Given the description of an element on the screen output the (x, y) to click on. 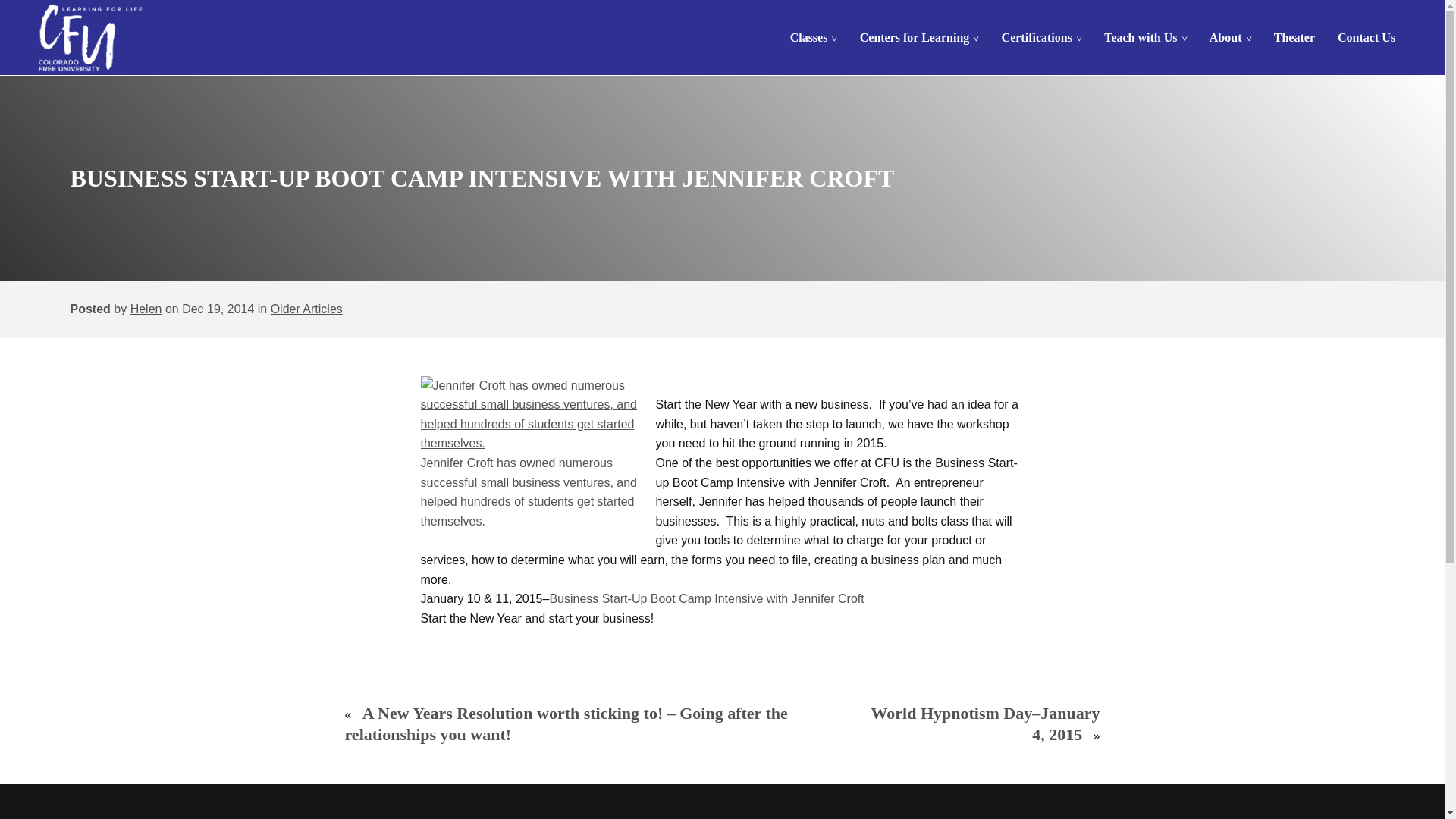
Business Start-Up Boot Camp Intensive with Jennifer Croft (705, 598)
Posts by Helen (146, 308)
Helen (146, 308)
Older Articles (306, 308)
Contact Us (1366, 37)
